Given the description of an element on the screen output the (x, y) to click on. 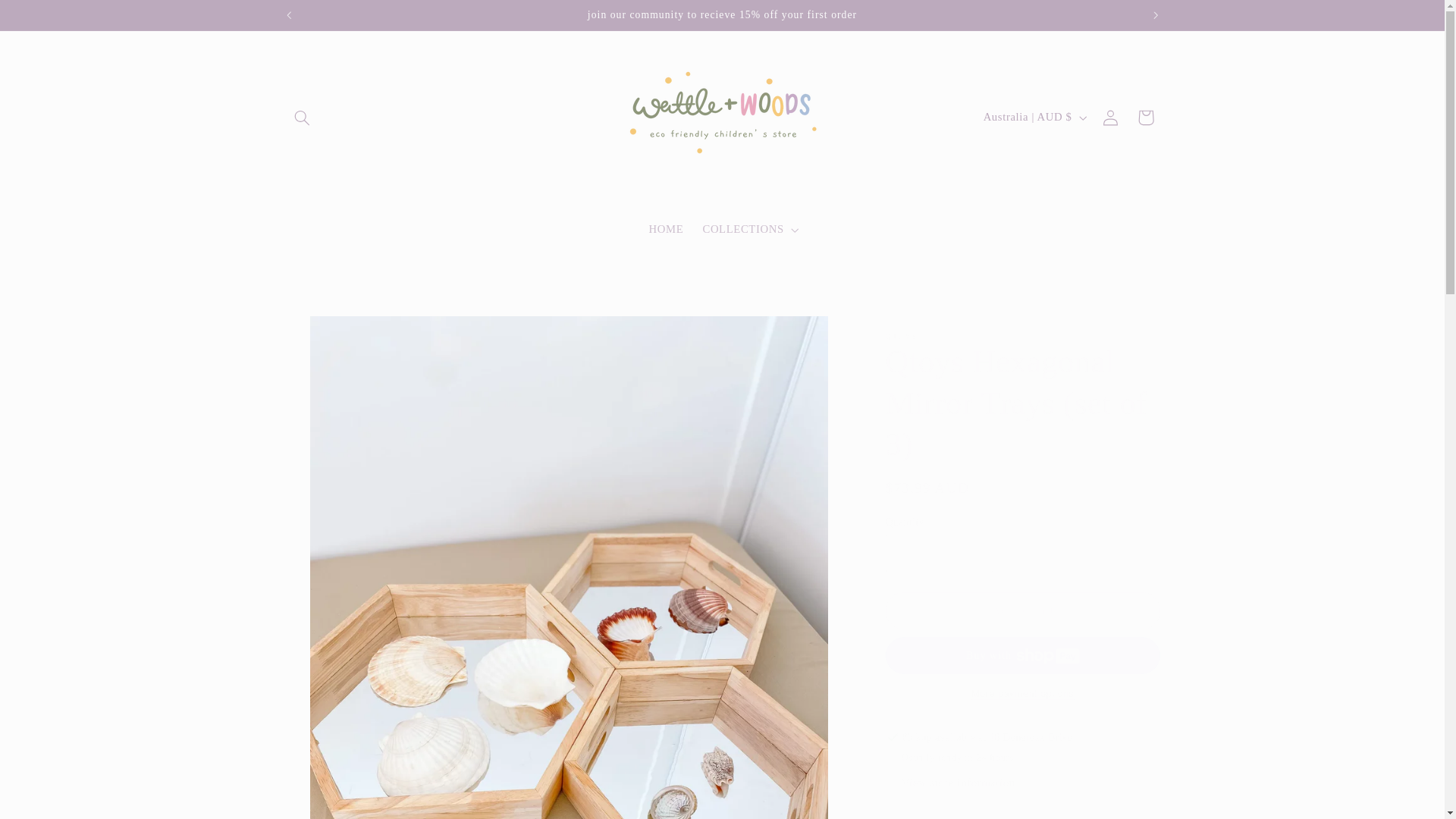
1 (939, 552)
HOME (666, 229)
Skip to content (48, 18)
